Given the description of an element on the screen output the (x, y) to click on. 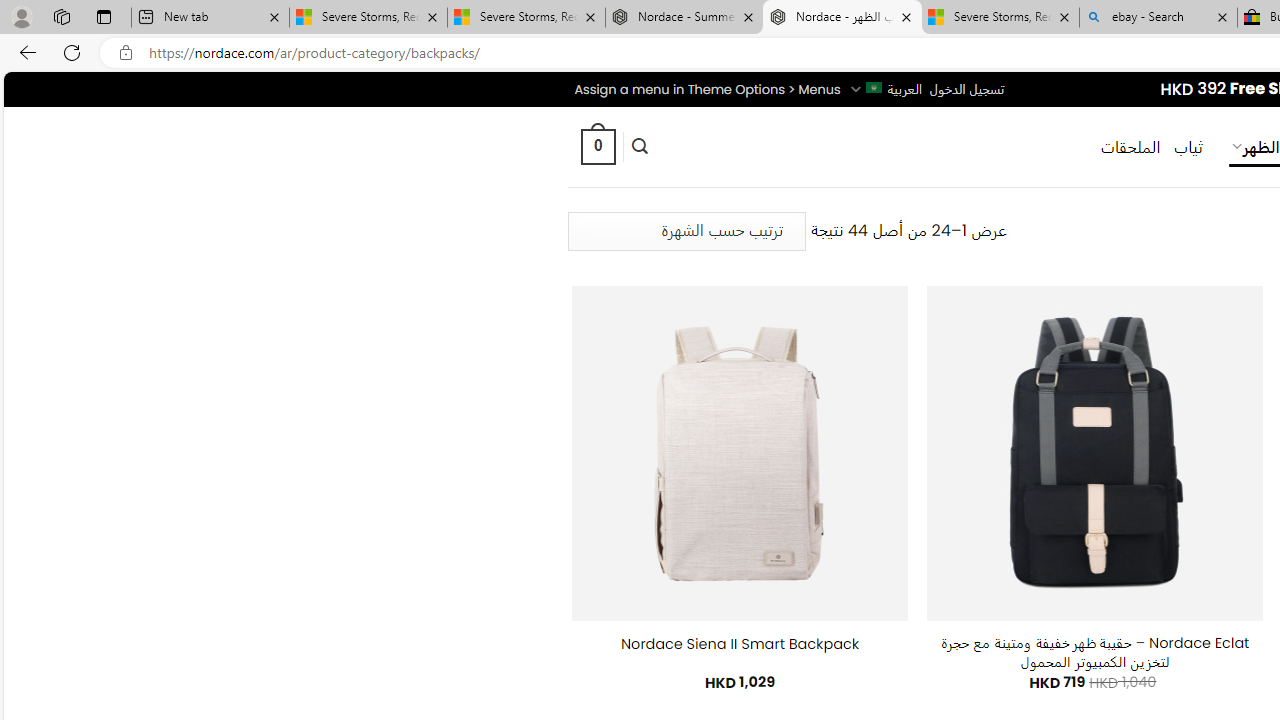
Nordace Siena II Smart Backpack (739, 643)
